Given the description of an element on the screen output the (x, y) to click on. 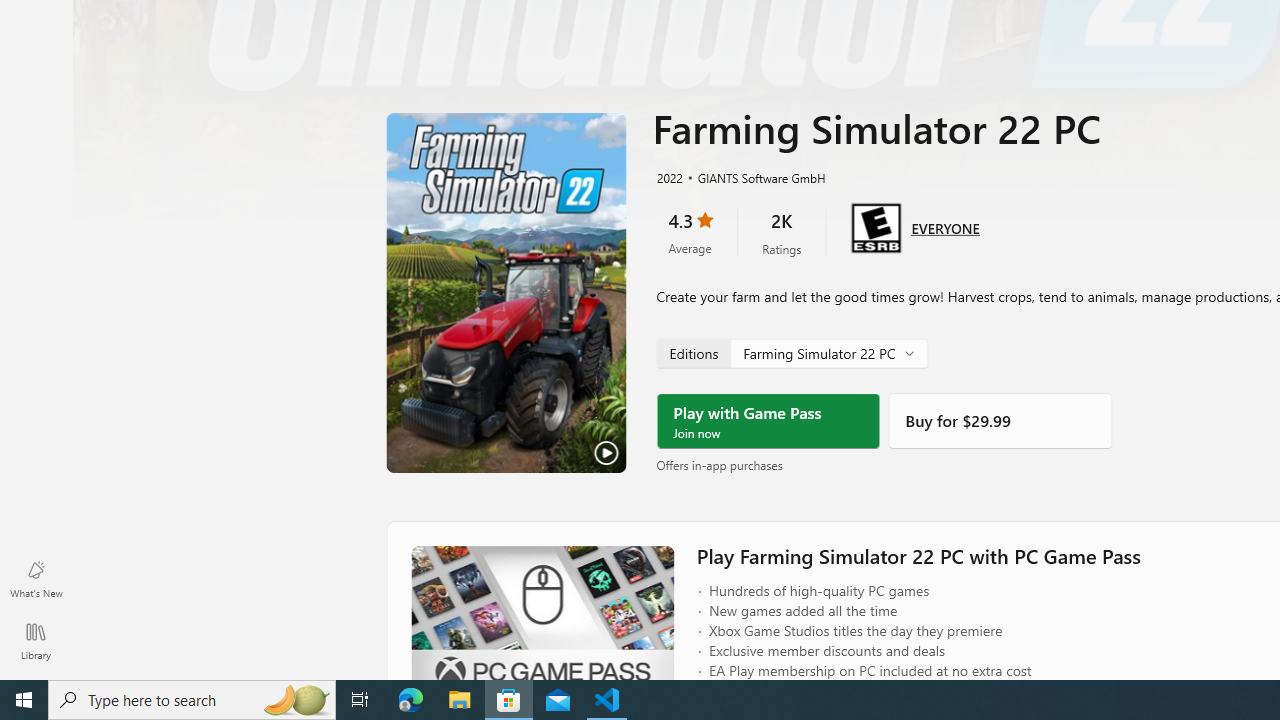
Play with Game Pass (767, 421)
2022 (667, 177)
GIANTS Software GmbH (753, 177)
4.3 stars. Click to skip to ratings and reviews (689, 232)
Farming Simulator 22 PC, Edition selector (791, 352)
Age rating: EVERYONE. Click for more information. (945, 226)
Play Trailer (505, 293)
Buy (1000, 421)
